Given the description of an element on the screen output the (x, y) to click on. 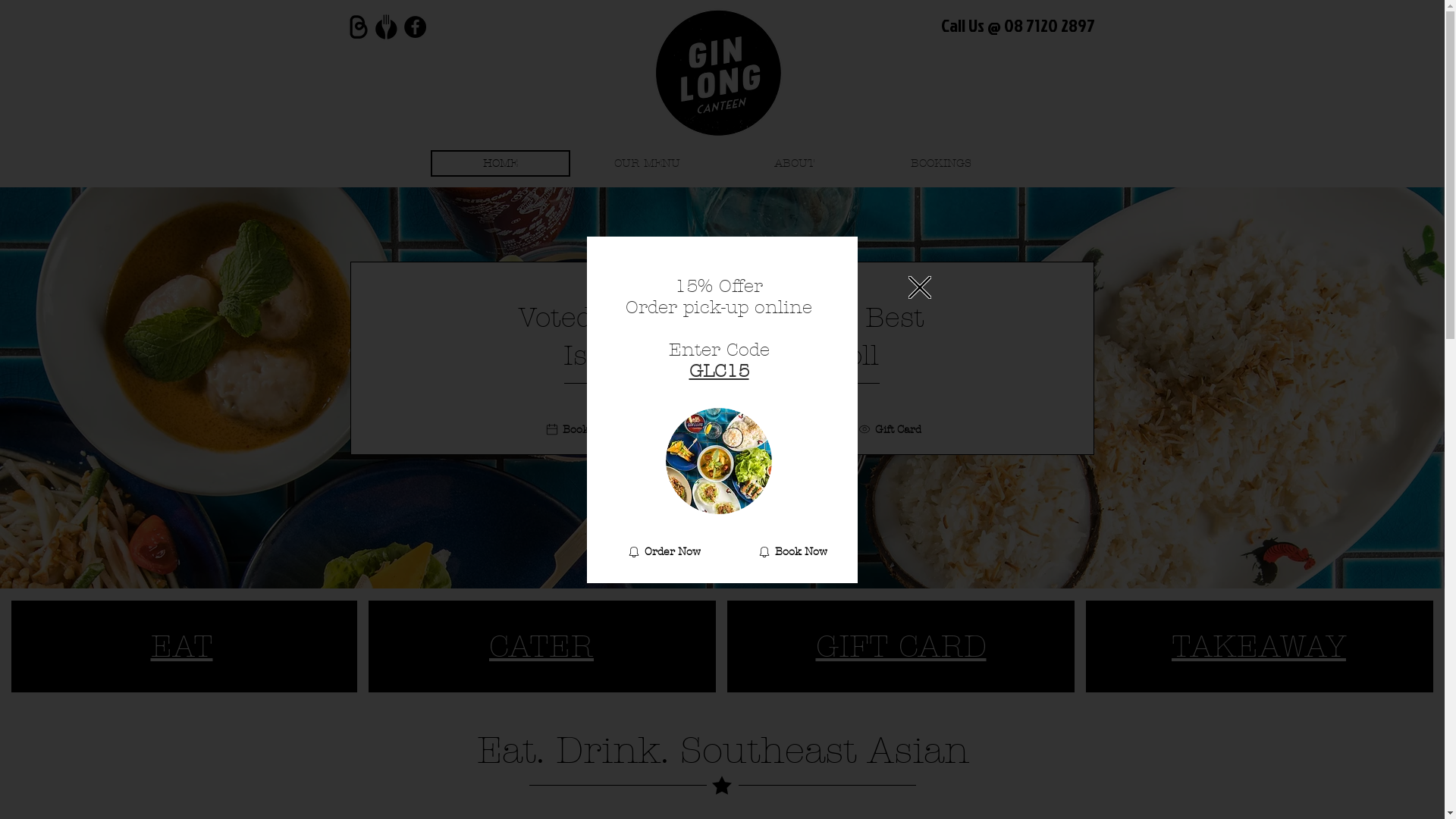
Order Now Element type: text (680, 428)
View Menu Element type: text (787, 428)
HOME Element type: text (500, 163)
Back to site Element type: hover (919, 287)
EAT Element type: text (181, 646)
Order Now Element type: text (663, 550)
Call Us @ 08 7120 2897 Element type: text (1017, 24)
Gift Card Element type: text (889, 428)
GIFT CARD Element type: text (900, 646)
TAKEAWAY Element type: text (1258, 646)
BOOKINGS Element type: text (941, 163)
Book Now Element type: text (579, 428)
Book Now Element type: text (792, 550)
CATER Element type: text (541, 646)
ABOUT Element type: text (794, 163)
OUR MENU Element type: text (647, 163)
